Given the description of an element on the screen output the (x, y) to click on. 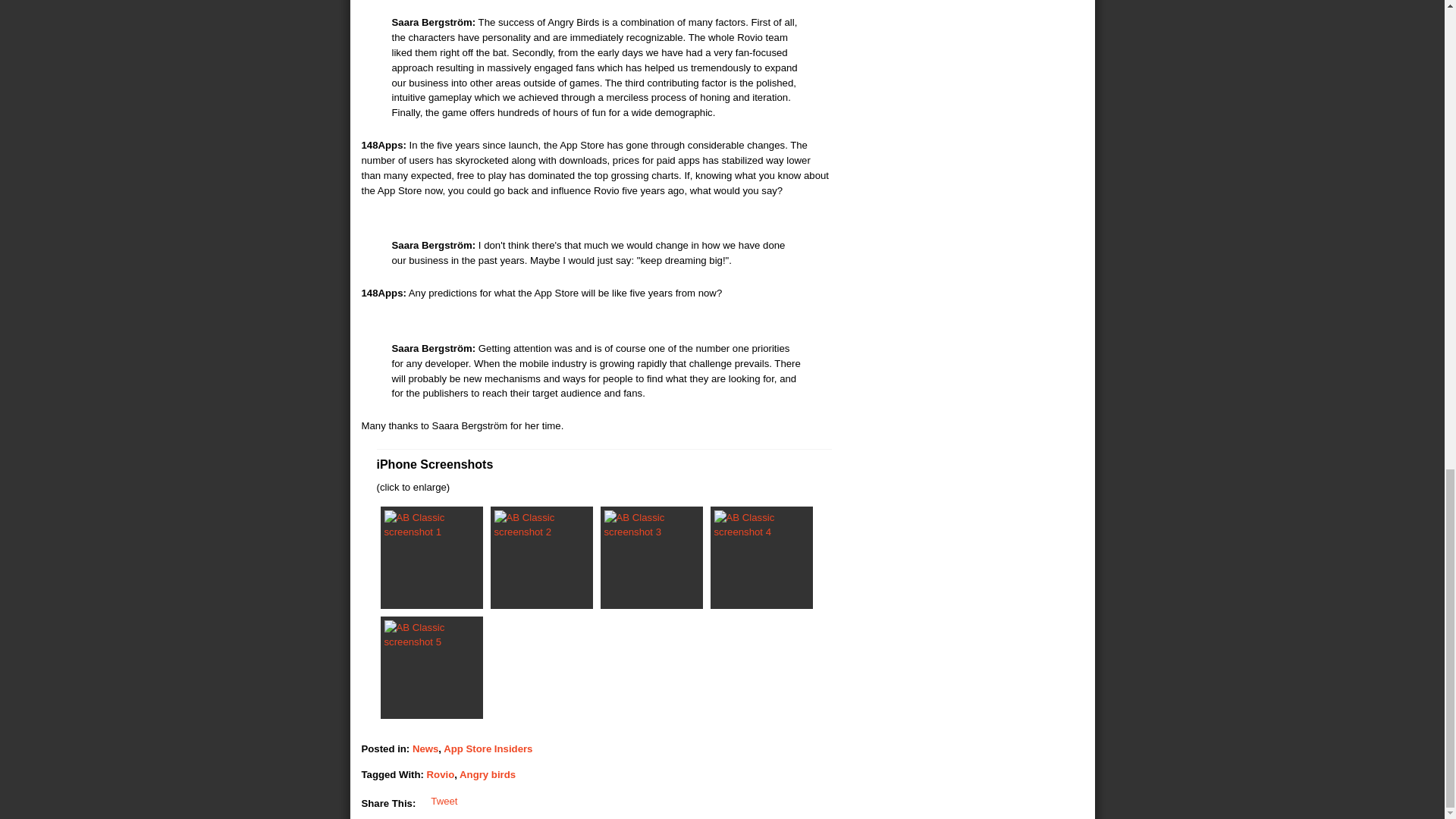
Rovio (440, 774)
Tweet (443, 800)
News (425, 748)
Angry birds (487, 774)
App Store Insiders (488, 748)
